Given the description of an element on the screen output the (x, y) to click on. 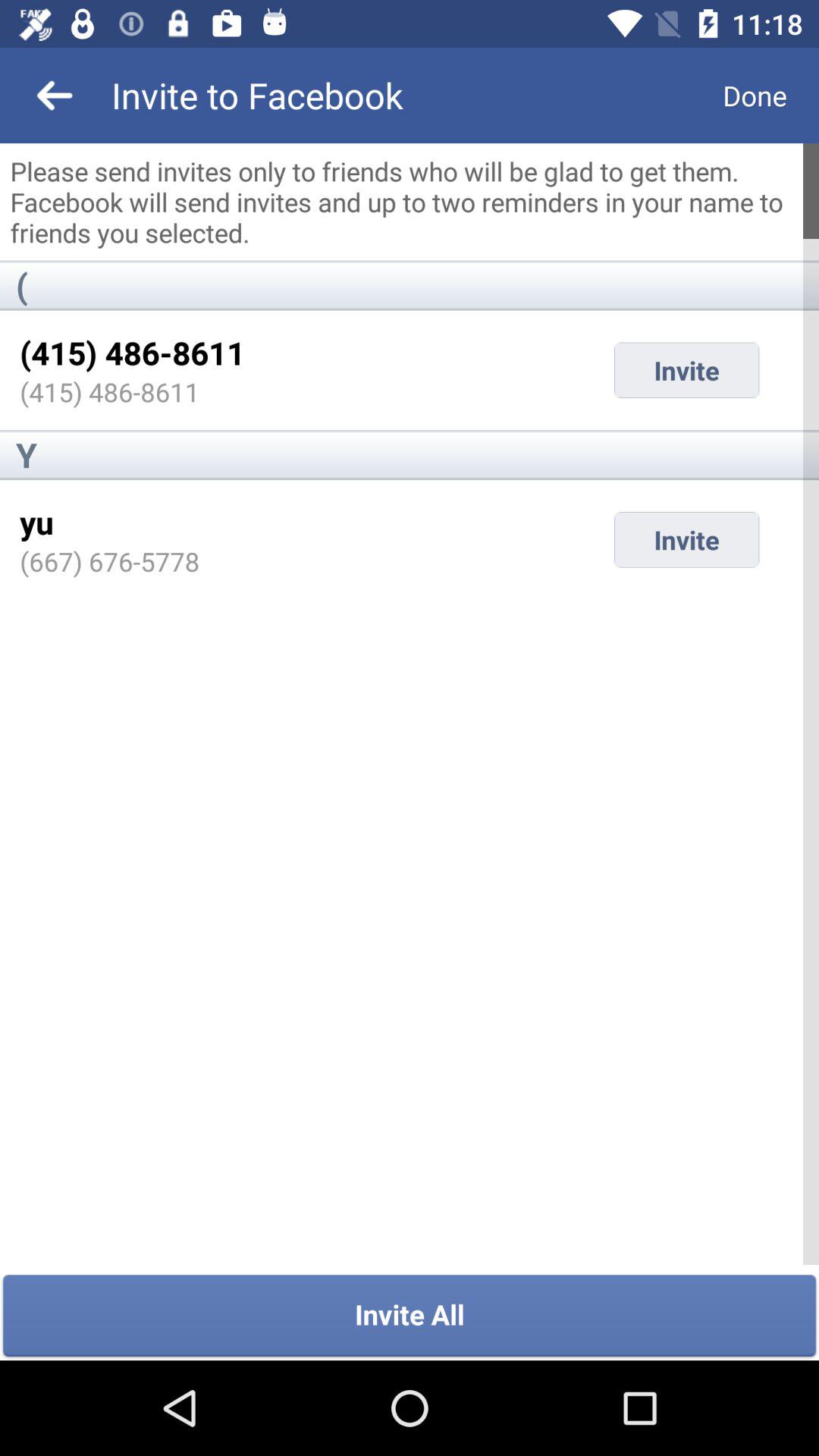
select item next to the invite to facebook item (55, 95)
